Given the description of an element on the screen output the (x, y) to click on. 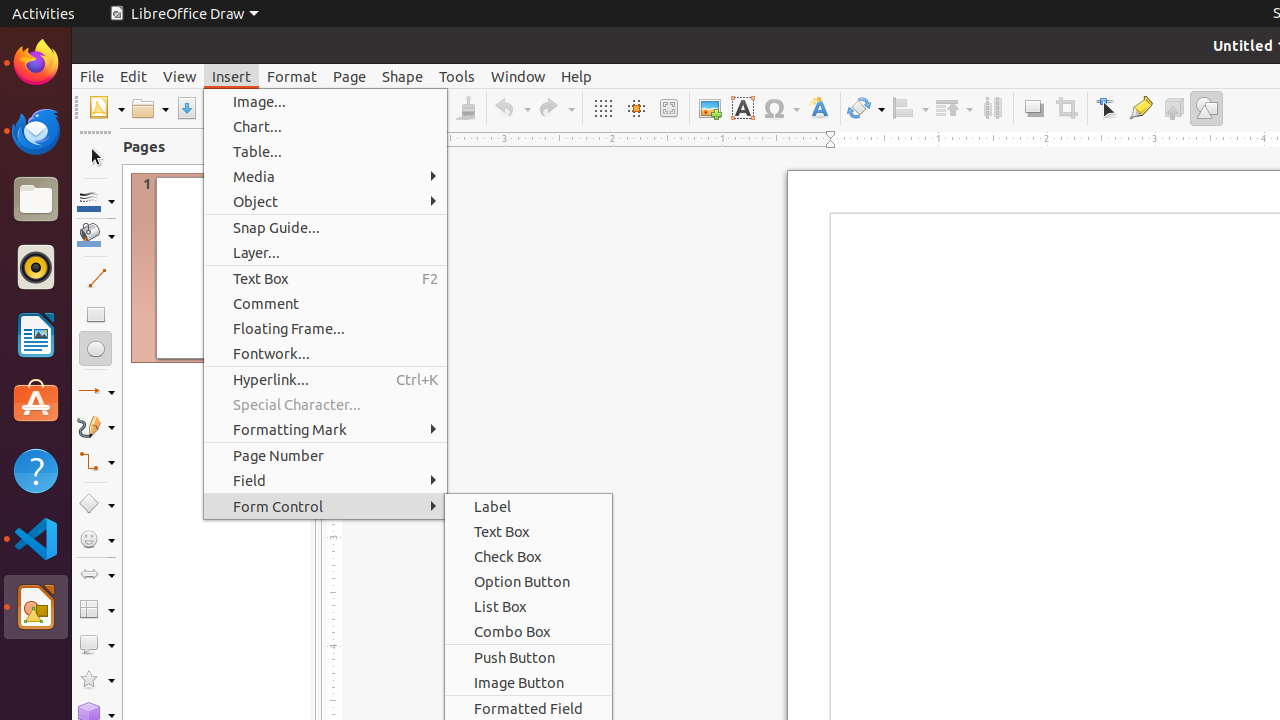
Toggle Extrusion Element type: push-button (1173, 108)
Glue Points Element type: push-button (1140, 108)
Media Element type: menu (325, 176)
Ubuntu Software Element type: push-button (36, 402)
Formatting Mark Element type: menu (325, 429)
